Given the description of an element on the screen output the (x, y) to click on. 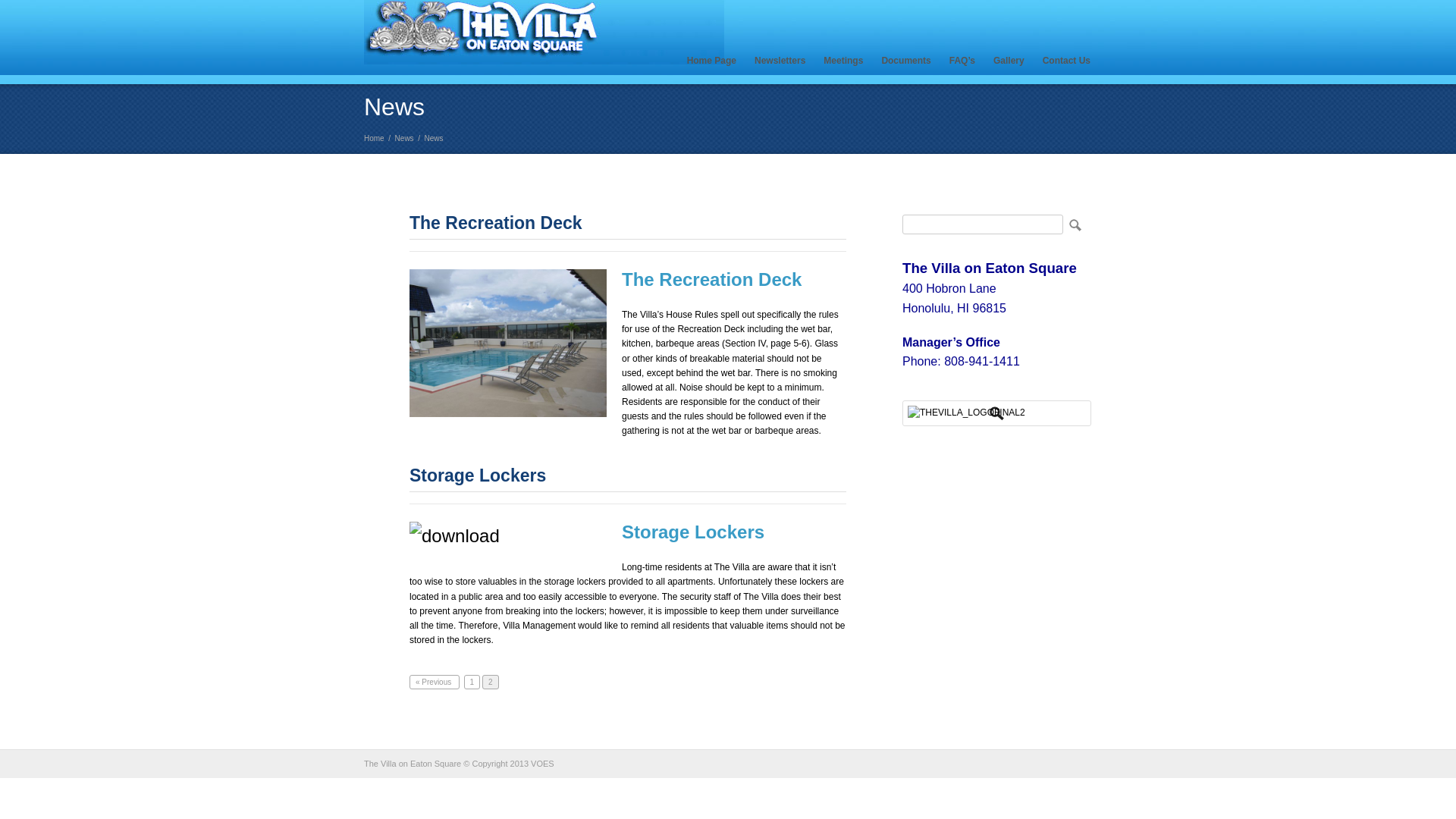
Permalink to Storage Lockers (477, 475)
Search (1074, 224)
Newsletters (779, 60)
1 (472, 681)
Contact Us (1066, 60)
News (403, 138)
Permalink to The Recreation Deck (495, 222)
Home (374, 138)
Documents (905, 60)
Search (1074, 224)
2 (490, 681)
Storage Lockers (477, 475)
The Recreation Deck (495, 222)
Home Page (711, 60)
Meetings (842, 60)
